Given the description of an element on the screen output the (x, y) to click on. 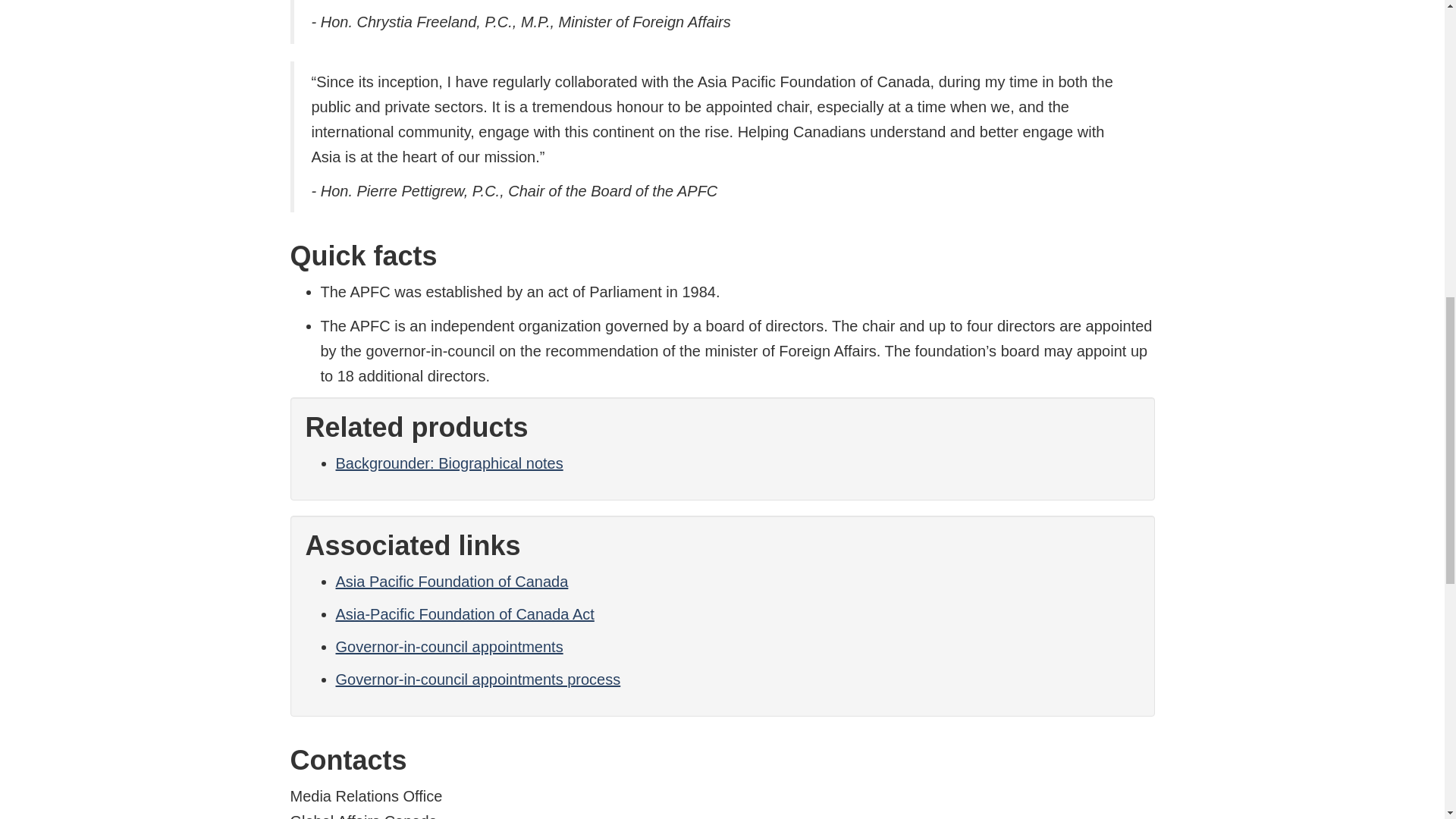
Asia Pacific Foundation of Canada (450, 581)
Governor-in-council appointments process (477, 678)
Backgrounder: Biographical notes (448, 463)
Governor-in-council appointments (448, 646)
Governor-in-council appointments process (477, 678)
Backgrounder: Biographical notes (448, 463)
Governor-in-council appointments (448, 646)
Asia-Pacific Foundation of Canada Act (464, 614)
Asia Pacific Foundation of Canada (450, 581)
Asia-Pacific Foundation of Canada Act (464, 614)
